Given the description of an element on the screen output the (x, y) to click on. 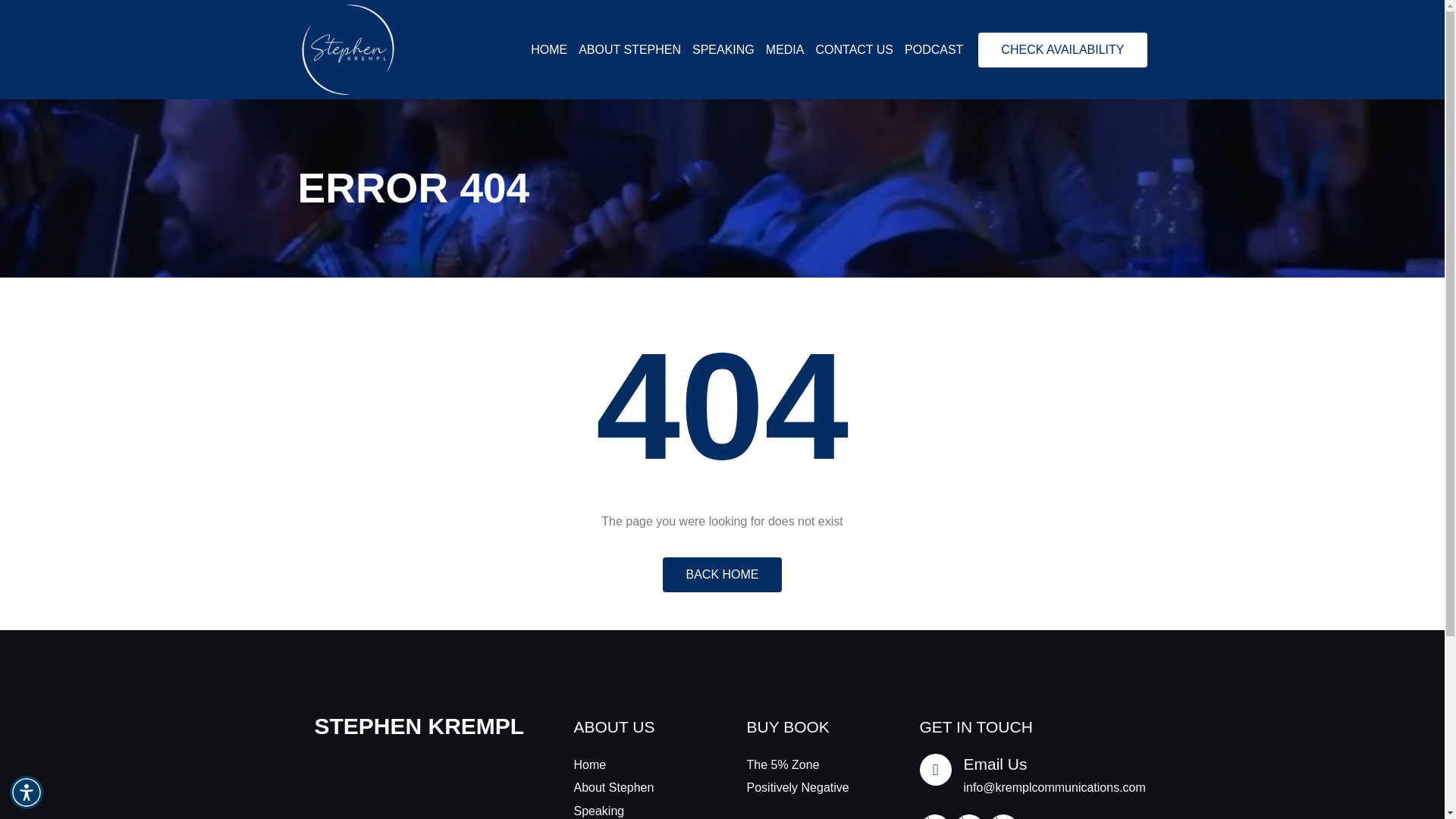
MEDIA (785, 49)
BACK HOME (721, 574)
Home (635, 764)
Positively Negative (807, 787)
CONTACT US (854, 49)
ABOUT STEPHEN (629, 49)
HOME (549, 49)
PODCAST (933, 49)
SPEAKING (723, 49)
About Stephen (635, 787)
Accessibility Menu (26, 792)
CHECK AVAILABILITY (1062, 49)
Speaking (635, 809)
